Given the description of an element on the screen output the (x, y) to click on. 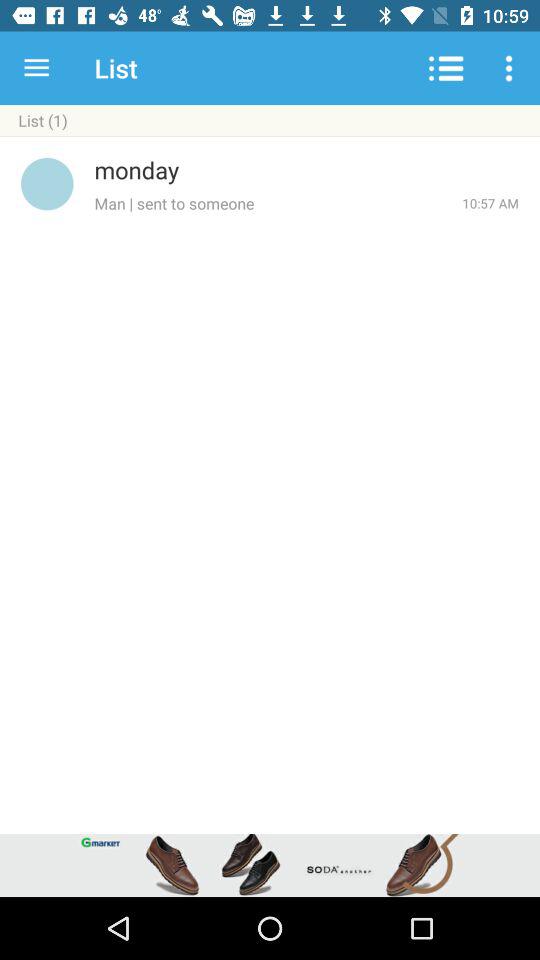
launch the item next to the 10:57 am icon (278, 203)
